Given the description of an element on the screen output the (x, y) to click on. 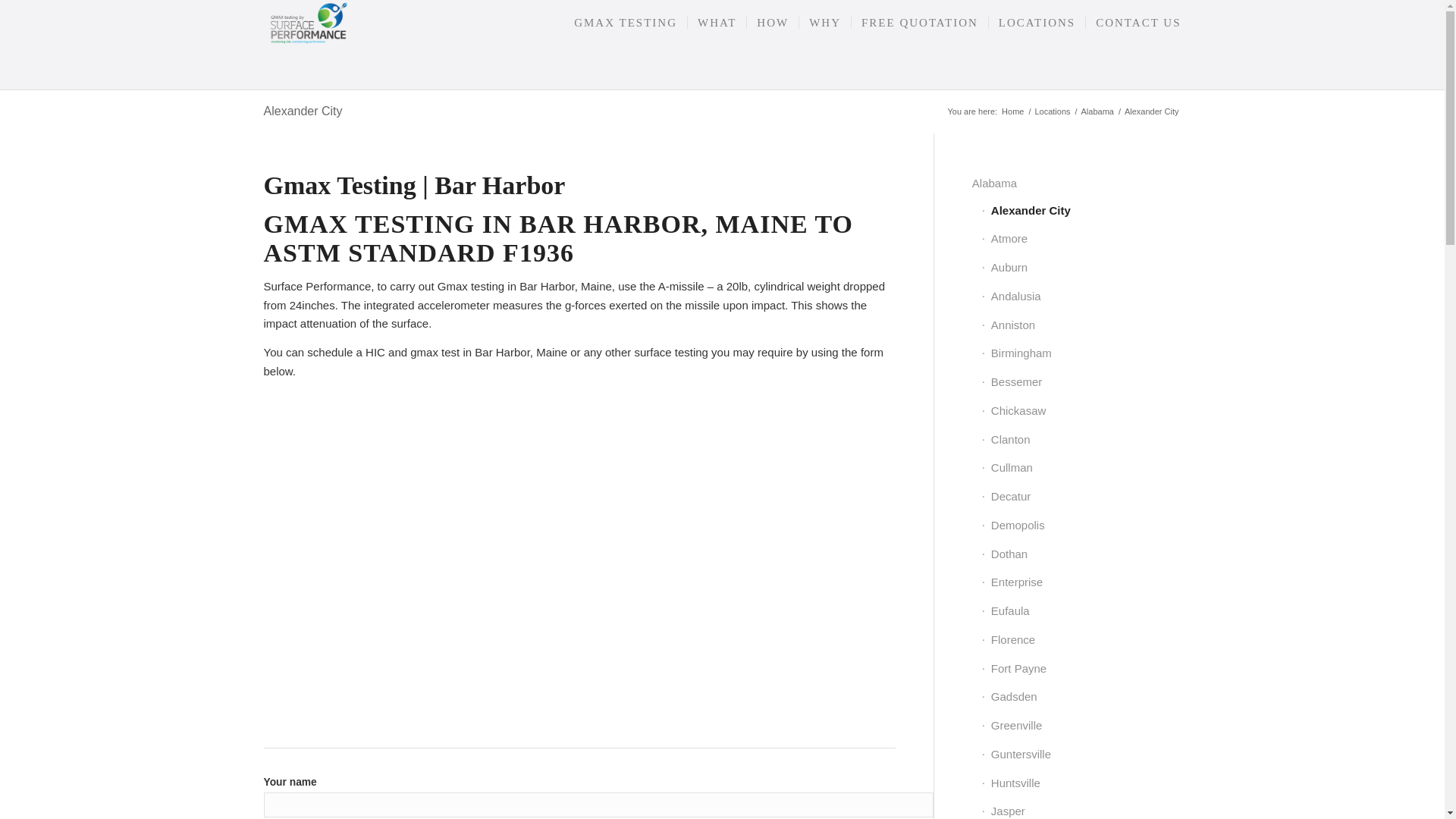
Alabama (1097, 111)
Clanton (1080, 440)
CONTACT US (1132, 22)
WHY (823, 22)
Decatur (1080, 497)
Alabama (1076, 184)
Auburn (1080, 267)
WHAT (716, 22)
Locations (1051, 111)
Demopolis (1080, 525)
